Given the description of an element on the screen output the (x, y) to click on. 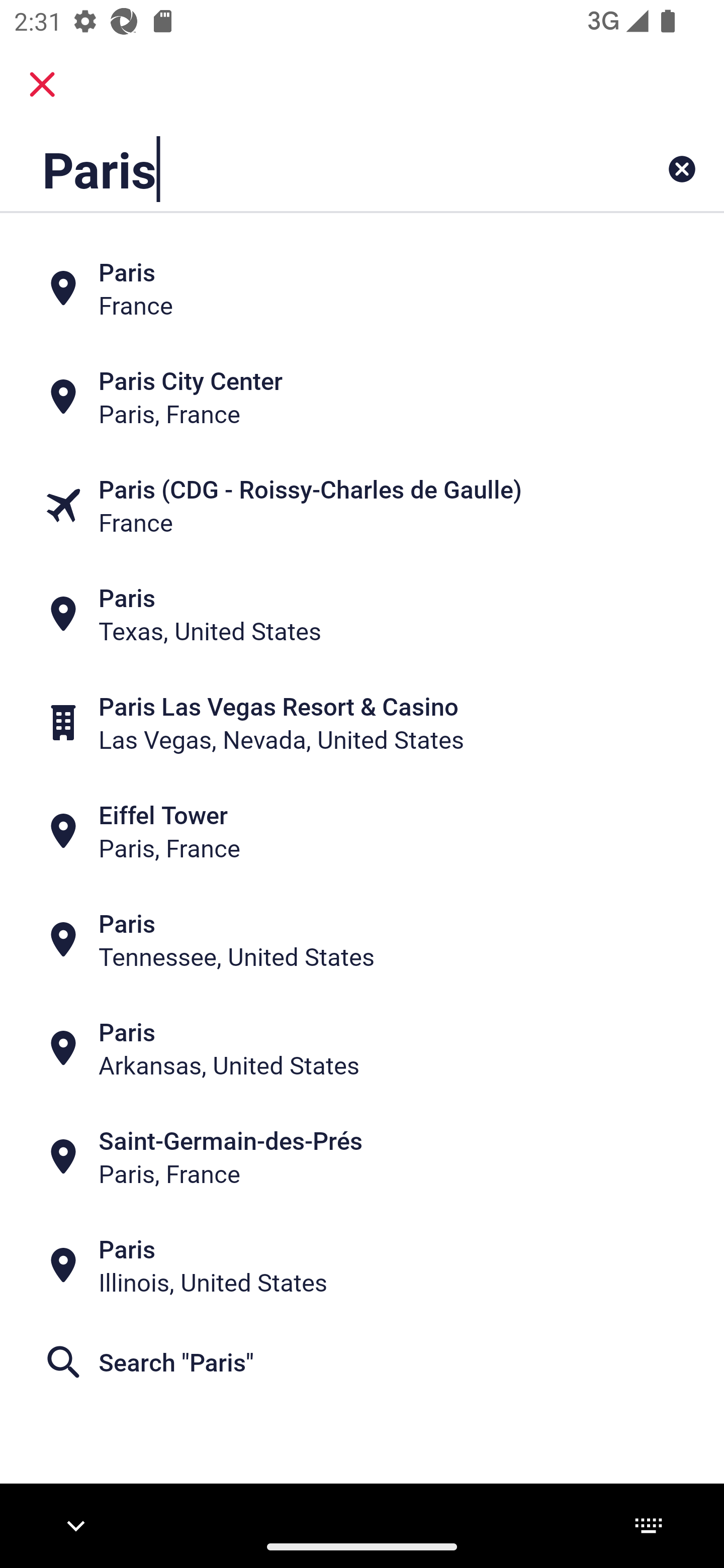
close. (42, 84)
Clear (681, 169)
Paris (298, 169)
Paris France (362, 288)
Paris City Center Paris, France (362, 397)
Paris (CDG - Roissy-Charles de Gaulle) France (362, 505)
Paris Texas, United States (362, 613)
Eiffel Tower Paris, France (362, 831)
Paris Tennessee, United States (362, 939)
Paris Arkansas, United States (362, 1048)
Saint-Germain-des-Prés Paris, France (362, 1156)
Paris Illinois, United States (362, 1265)
Search "Paris" (362, 1362)
